Given the description of an element on the screen output the (x, y) to click on. 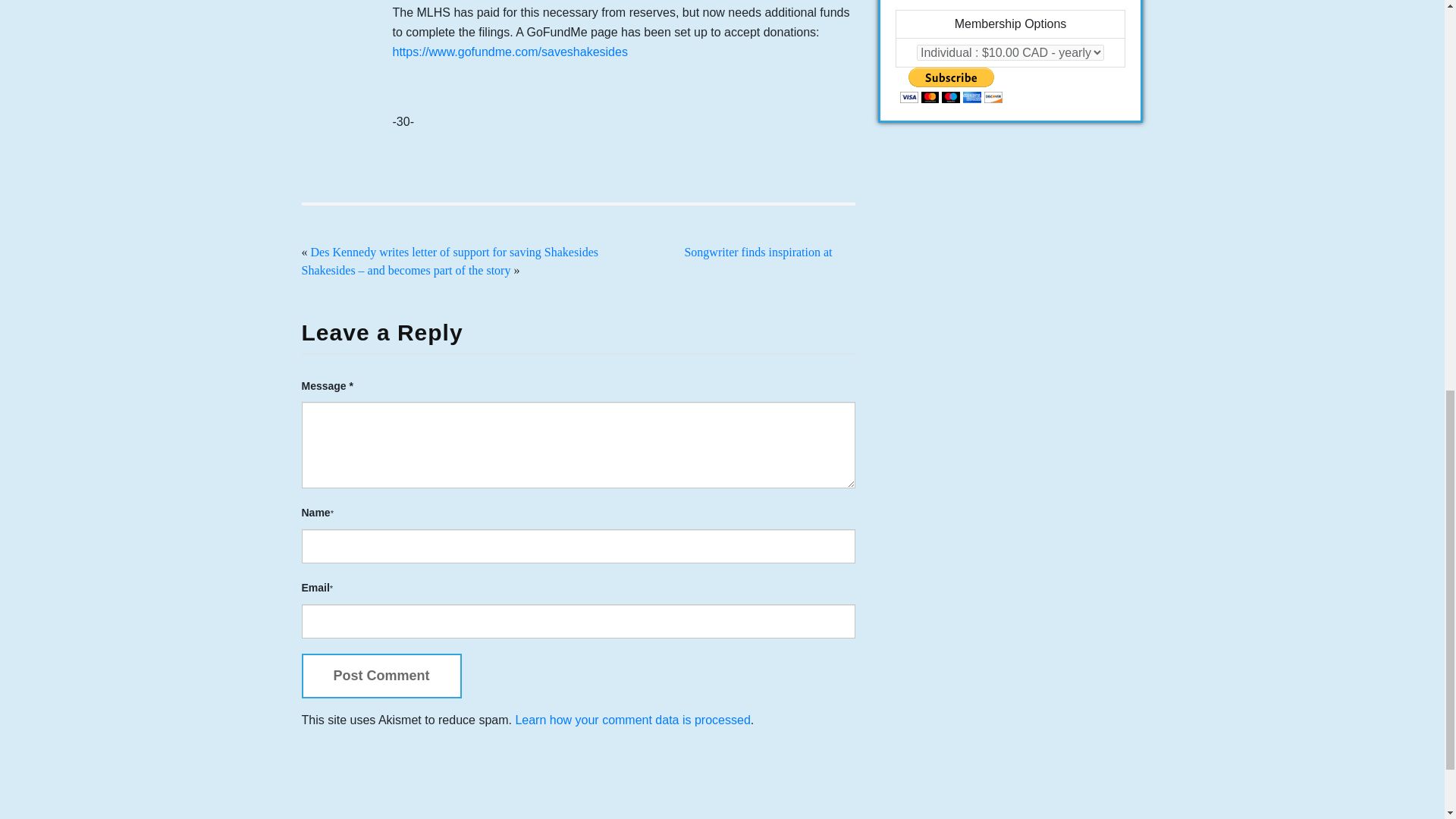
Post Comment (381, 676)
